Given the description of an element on the screen output the (x, y) to click on. 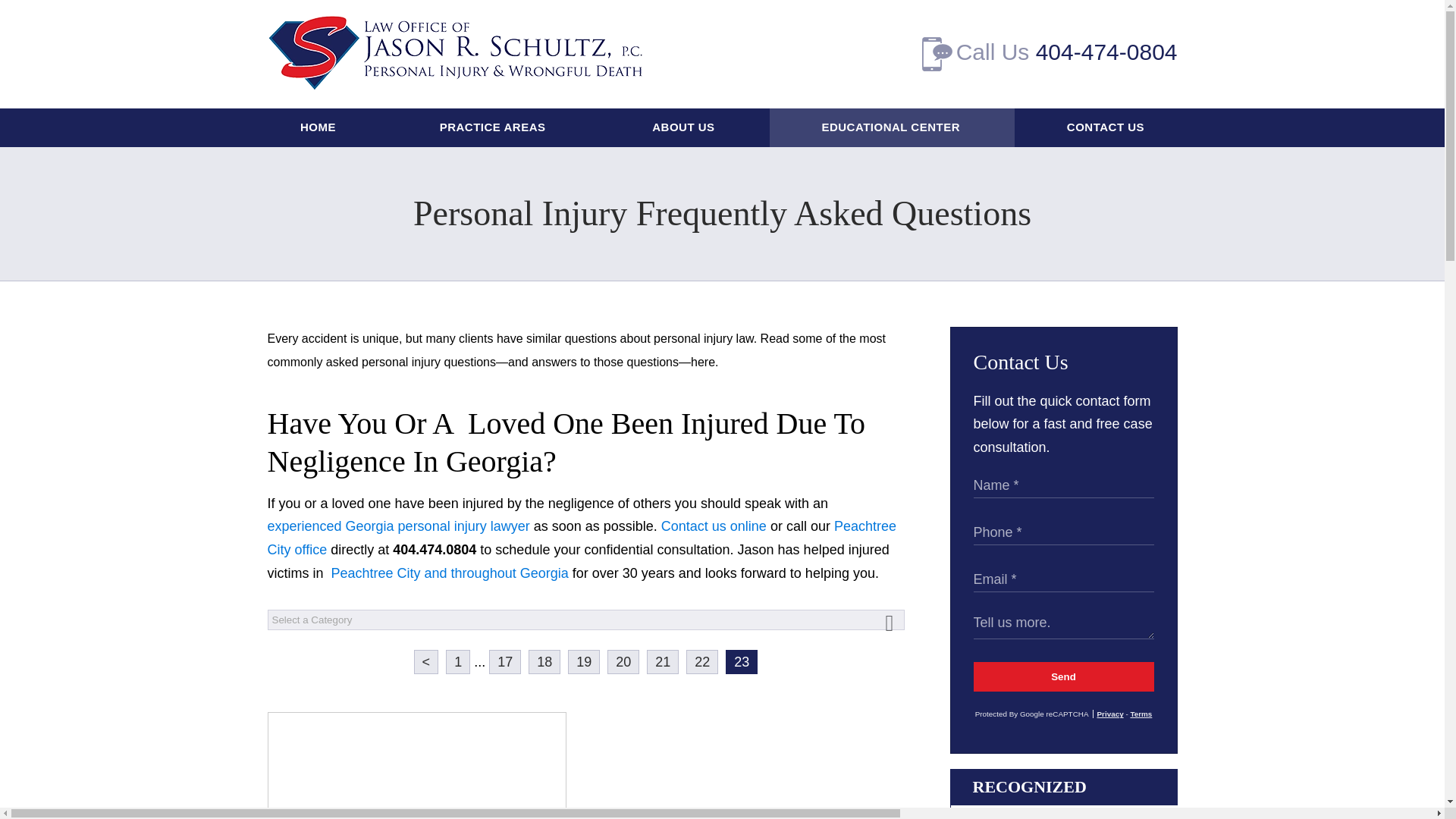
22 (701, 662)
18 (544, 662)
HOME (318, 127)
Peachtree City office (581, 537)
1 (457, 662)
21 (662, 662)
Peachtree City and throughout Georgia (450, 572)
experienced Georgia personal injury lawyer (397, 525)
17 (505, 662)
19 (583, 662)
404-474-0804 (1106, 51)
CONTACT US (1104, 127)
EDUCATIONAL CENTER (892, 127)
ABOUT US (684, 127)
20 (623, 662)
